Given the description of an element on the screen output the (x, y) to click on. 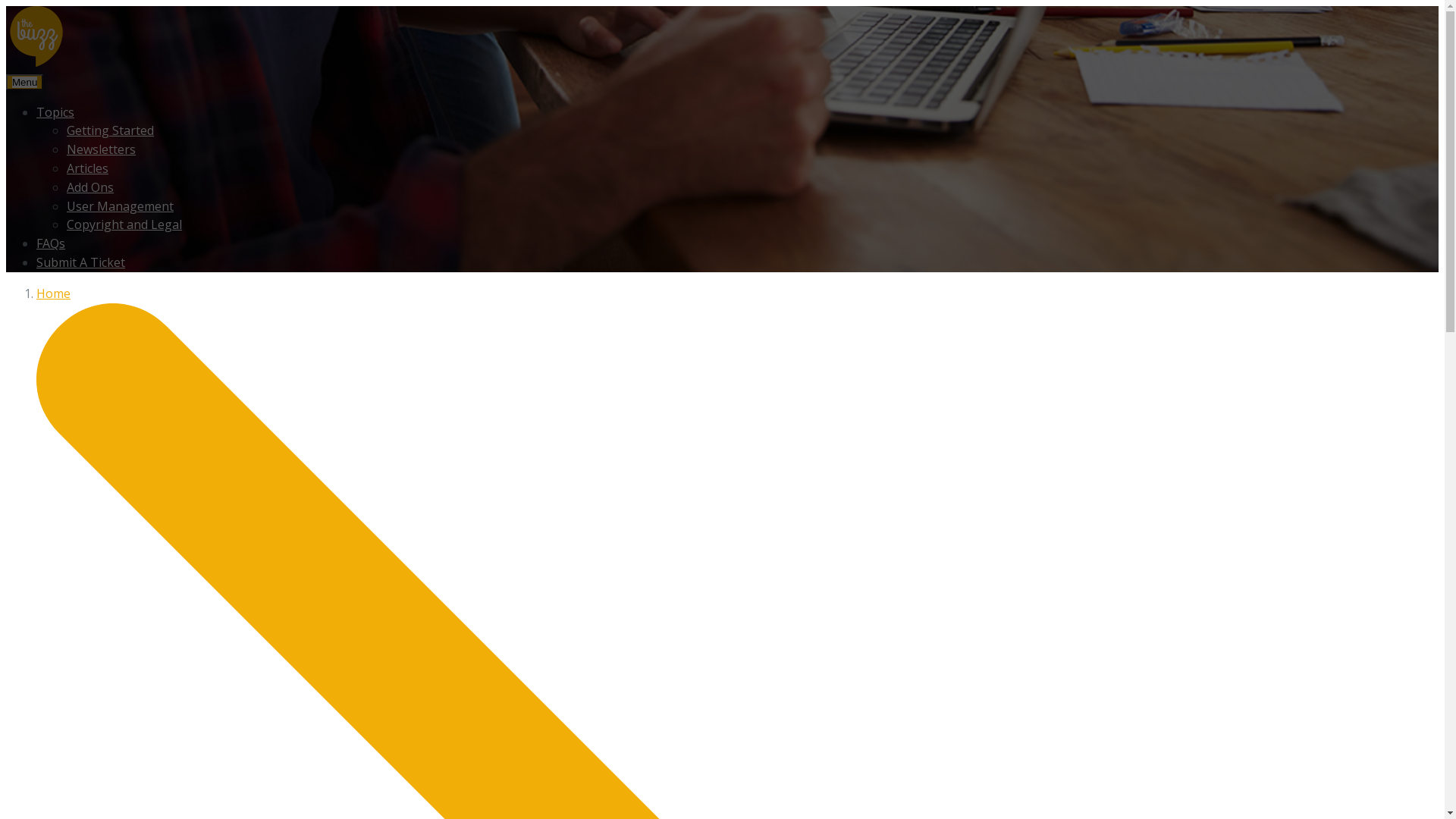
User Management Element type: text (119, 205)
Getting Started Element type: text (109, 130)
Submit A Ticket Element type: text (80, 262)
Menu Element type: text (24, 82)
Articles Element type: text (87, 168)
Topics Element type: text (55, 111)
Newsletters Element type: text (100, 149)
Copyright and Legal Element type: text (124, 224)
Add Ons Element type: text (89, 186)
FAQs Element type: text (50, 243)
